Given the description of an element on the screen output the (x, y) to click on. 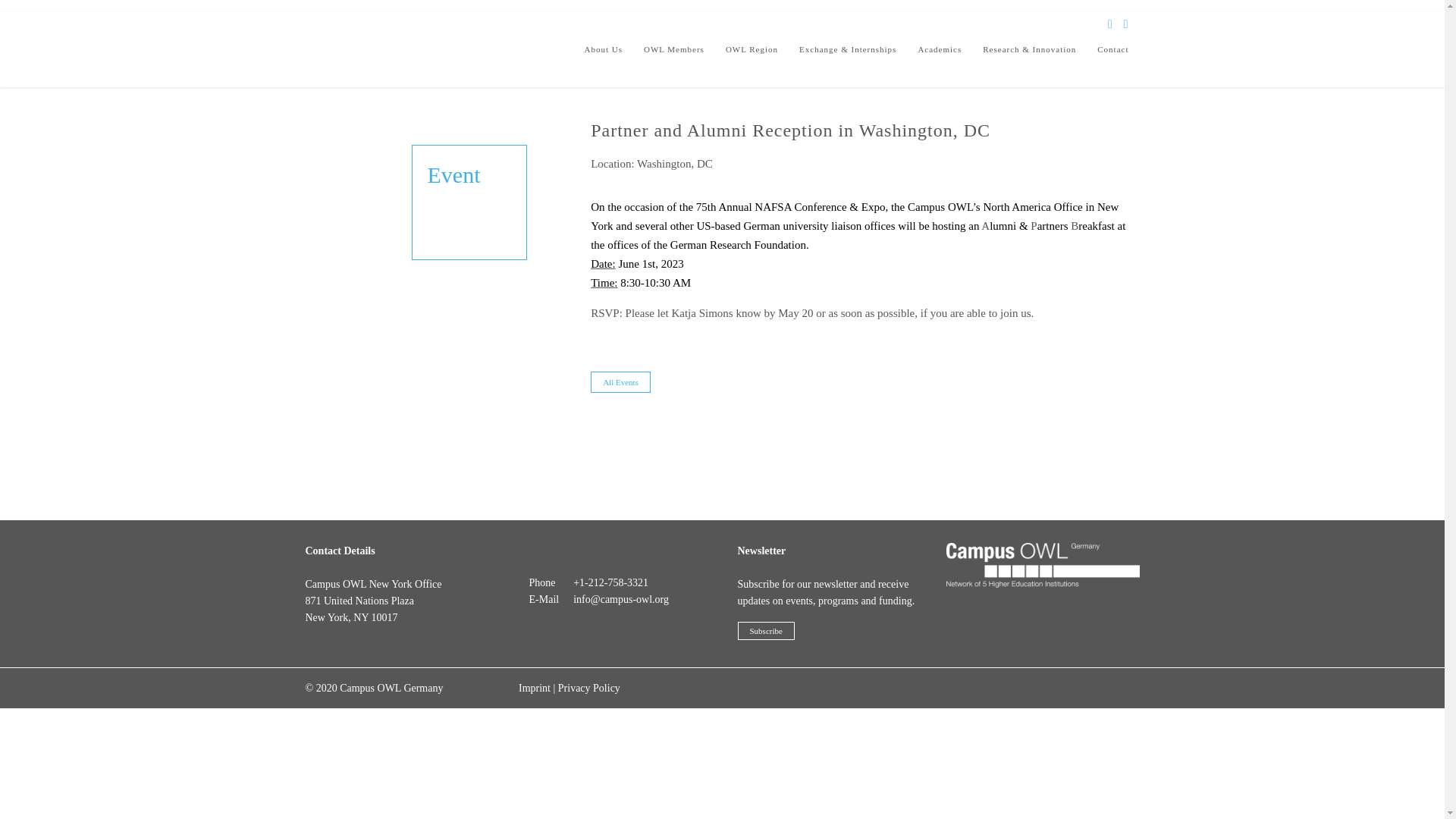
Privacy Policy (588, 687)
Subscribe (764, 630)
OWL Members (673, 48)
Imprint (534, 687)
All Events (620, 382)
OWL Region (751, 48)
